Given the description of an element on the screen output the (x, y) to click on. 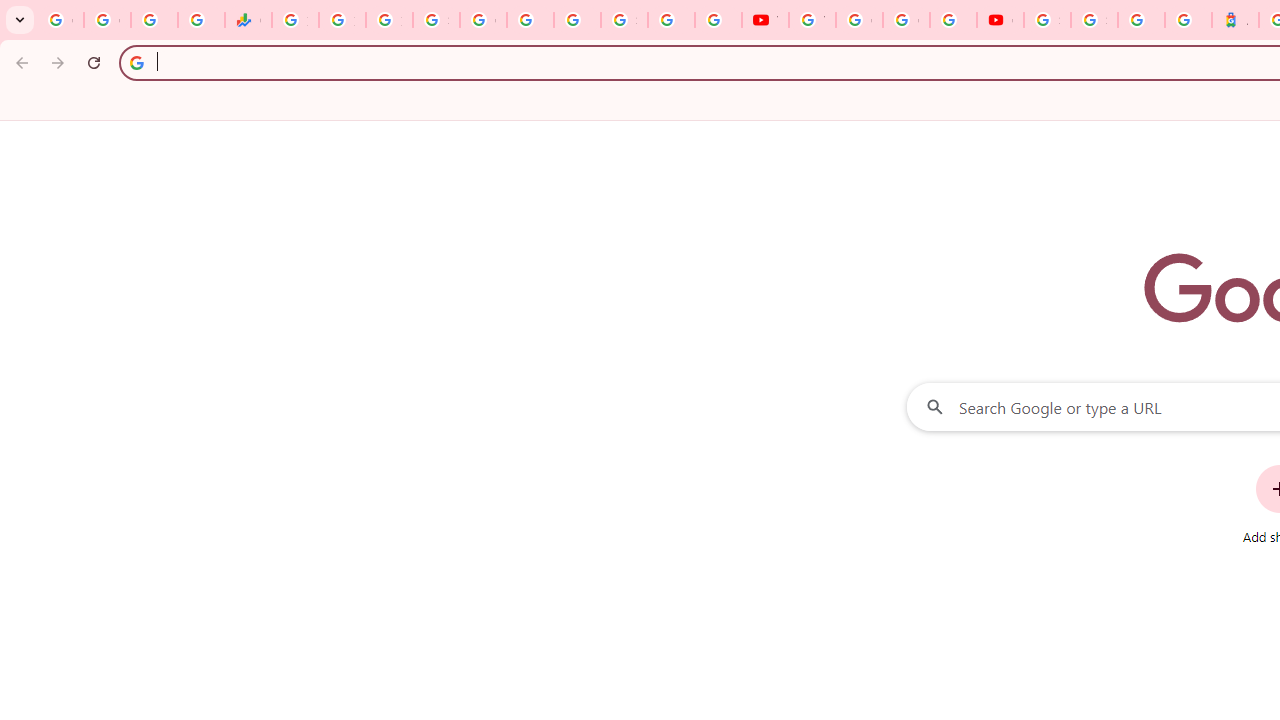
Create your Google Account (906, 20)
Sign in - Google Accounts (1047, 20)
Sign in - Google Accounts (436, 20)
